Given the description of an element on the screen output the (x, y) to click on. 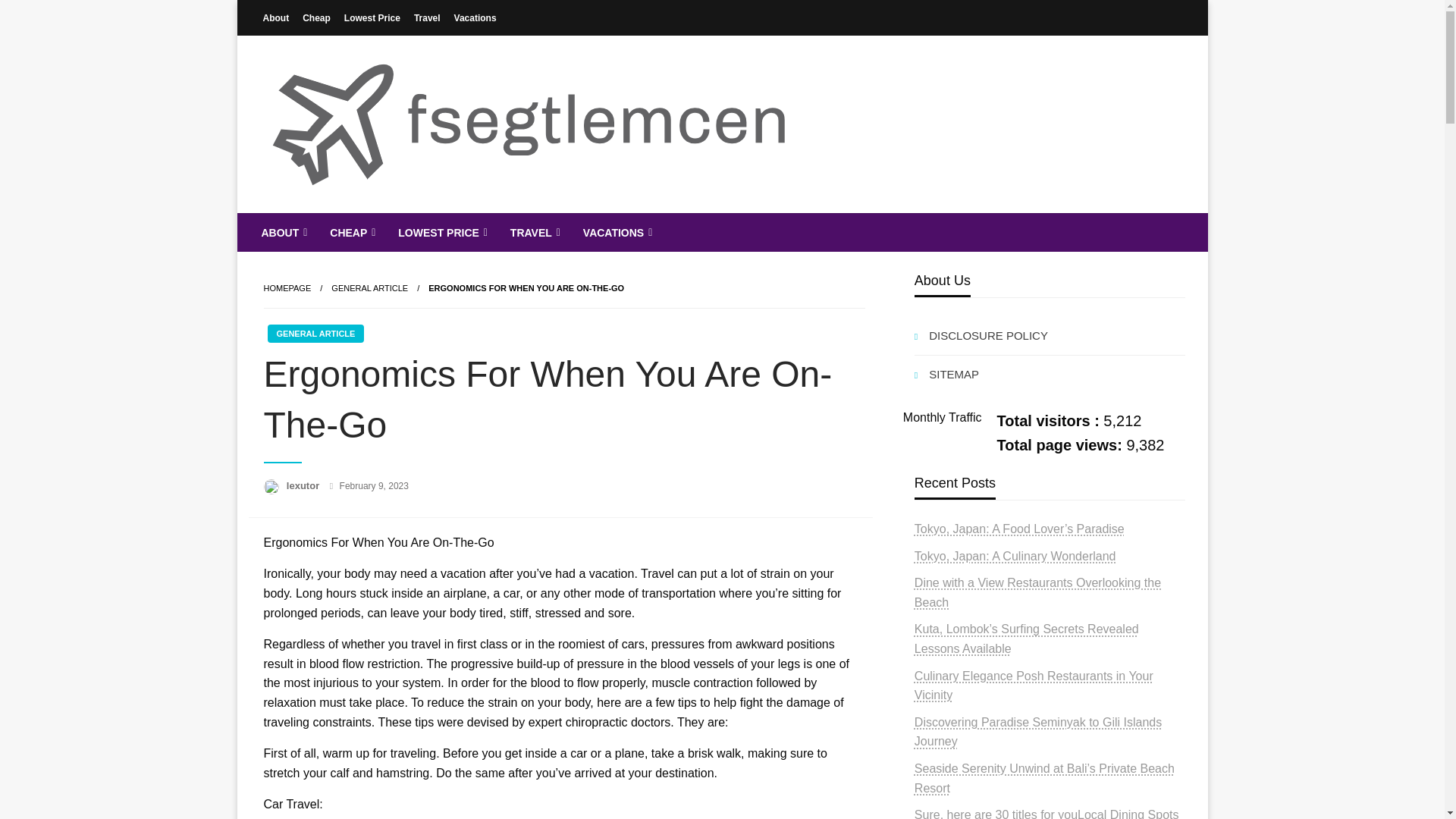
VACATIONS (616, 232)
Cheap (316, 17)
ABOUT (282, 232)
Vacations (474, 17)
CHEAP (351, 232)
Homepage (287, 287)
HOMEPAGE (287, 287)
Fseg-Tlemcen (360, 224)
TRAVEL (533, 232)
Ergonomics For When You Are On-The-Go (526, 287)
Travel (426, 17)
About (276, 17)
LOWEST PRICE (441, 232)
lexutor (303, 485)
